Given the description of an element on the screen output the (x, y) to click on. 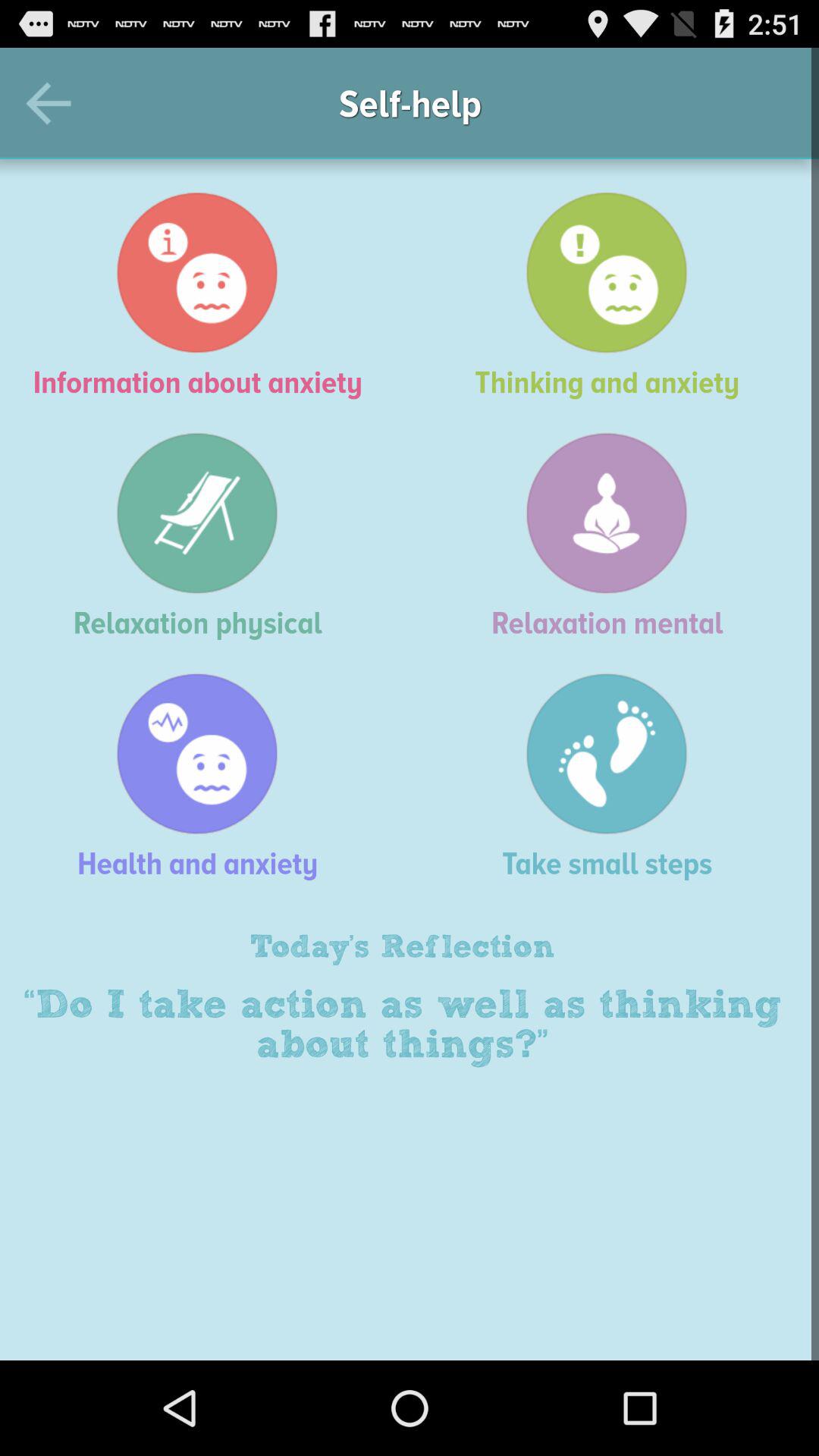
select the icon next to the health and anxiety item (614, 776)
